Given the description of an element on the screen output the (x, y) to click on. 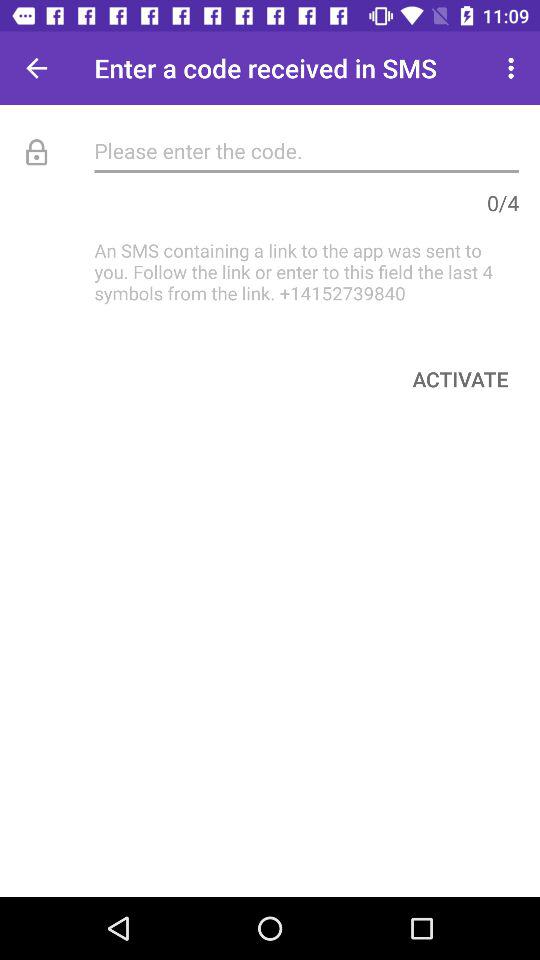
open the icon next to the enter a code (513, 67)
